Given the description of an element on the screen output the (x, y) to click on. 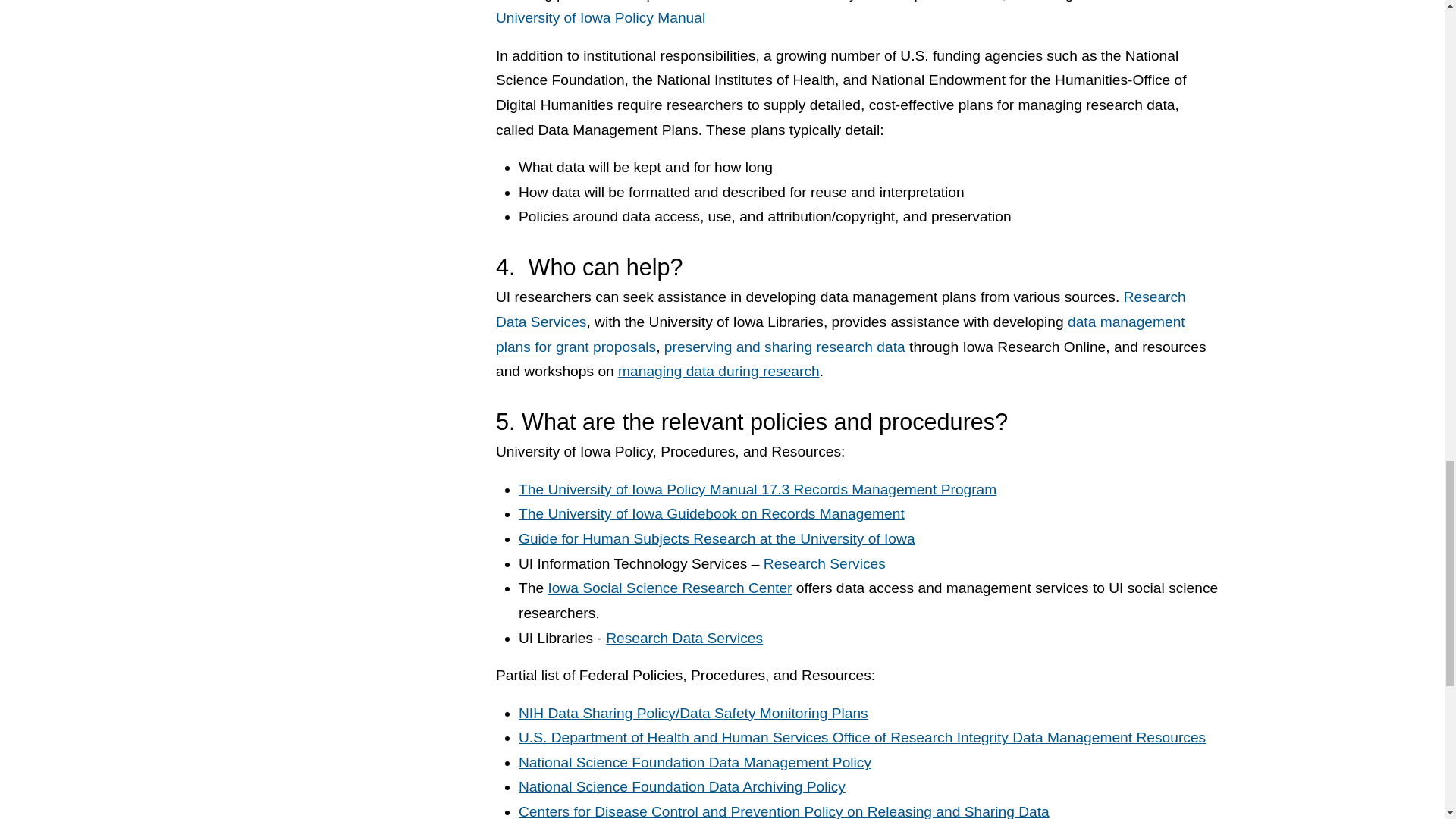
National Science Foundation Data Archiving Policy (681, 786)
Iowa Social Science Research Center (670, 587)
